Given the description of an element on the screen output the (x, y) to click on. 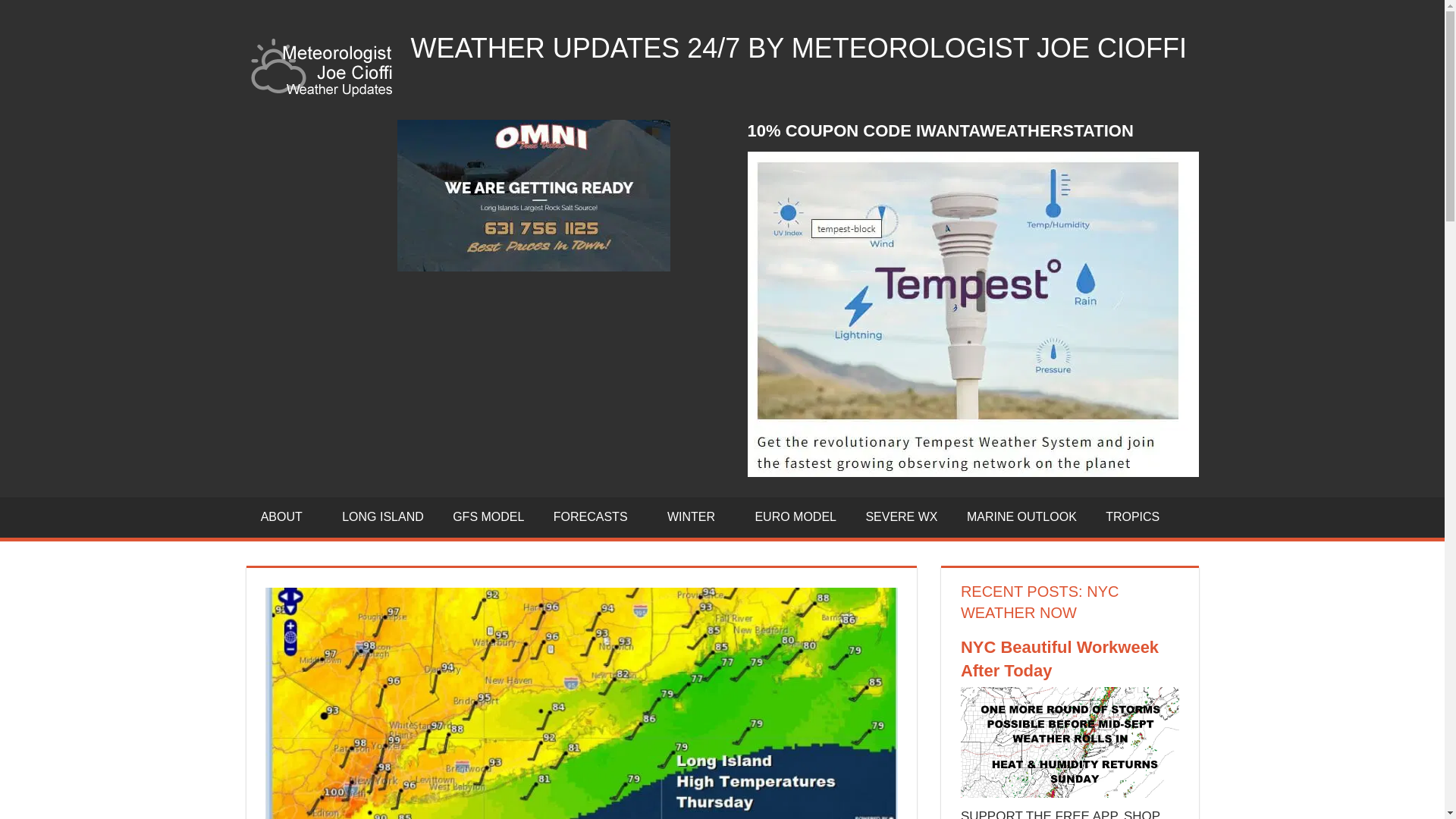
NYC Beautiful Workweek After Today (1069, 793)
LONG ISLAND (382, 517)
ABOUT (286, 517)
GFS MODEL (488, 517)
EURO MODEL (794, 517)
SEVERE WX (901, 517)
MARINE OUTLOOK (1021, 517)
TROPICS (1132, 517)
WINTER (695, 517)
FORECASTS (595, 517)
